Given the description of an element on the screen output the (x, y) to click on. 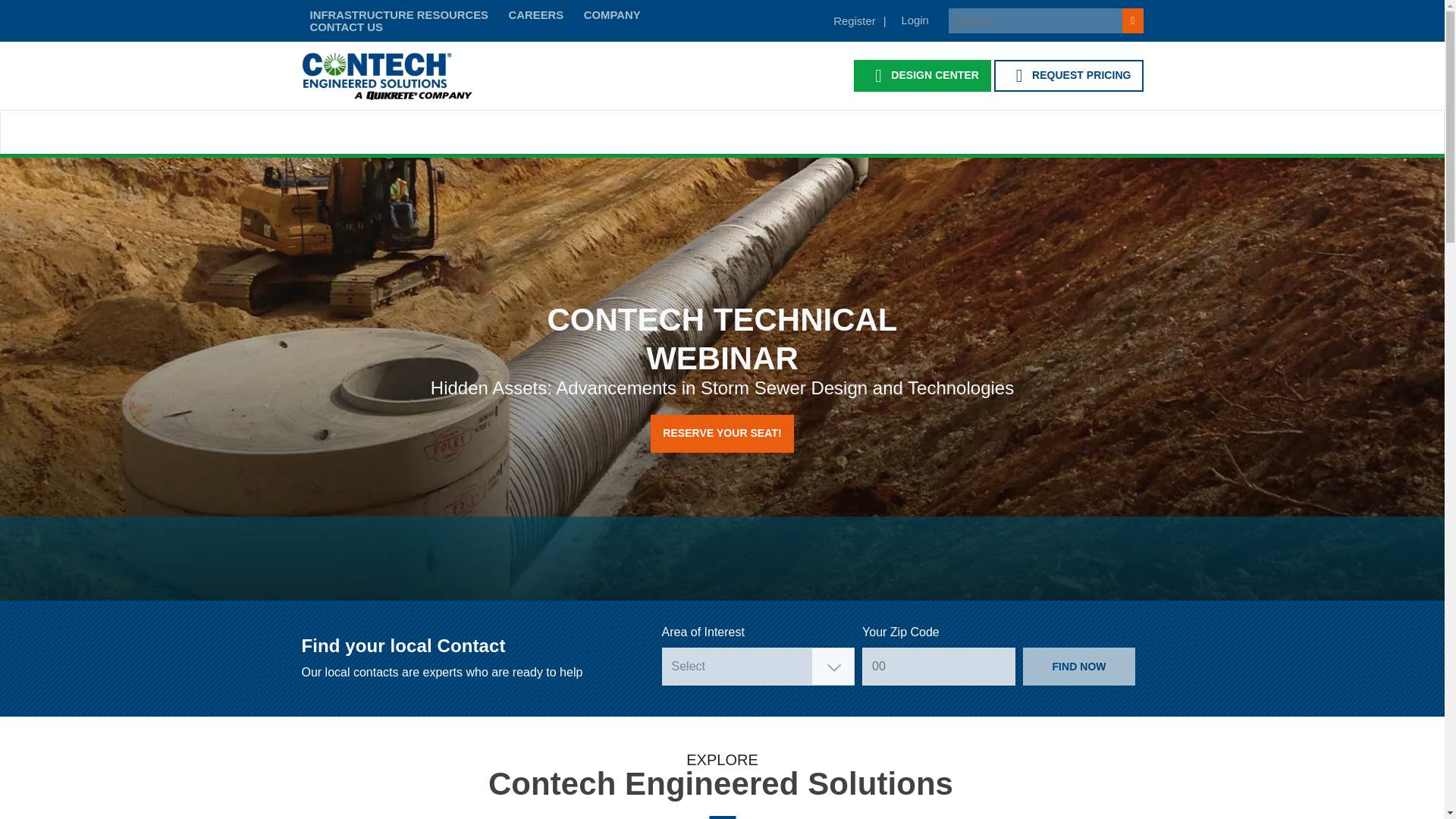
Login (914, 20)
Contech Engineered Solutions (386, 75)
Login (914, 20)
Register (858, 20)
COMPANY (612, 15)
Register (858, 20)
CAREERS (535, 15)
CONTACT US (346, 27)
INFRASTRUCTURE RESOURCES (399, 15)
